Given the description of an element on the screen output the (x, y) to click on. 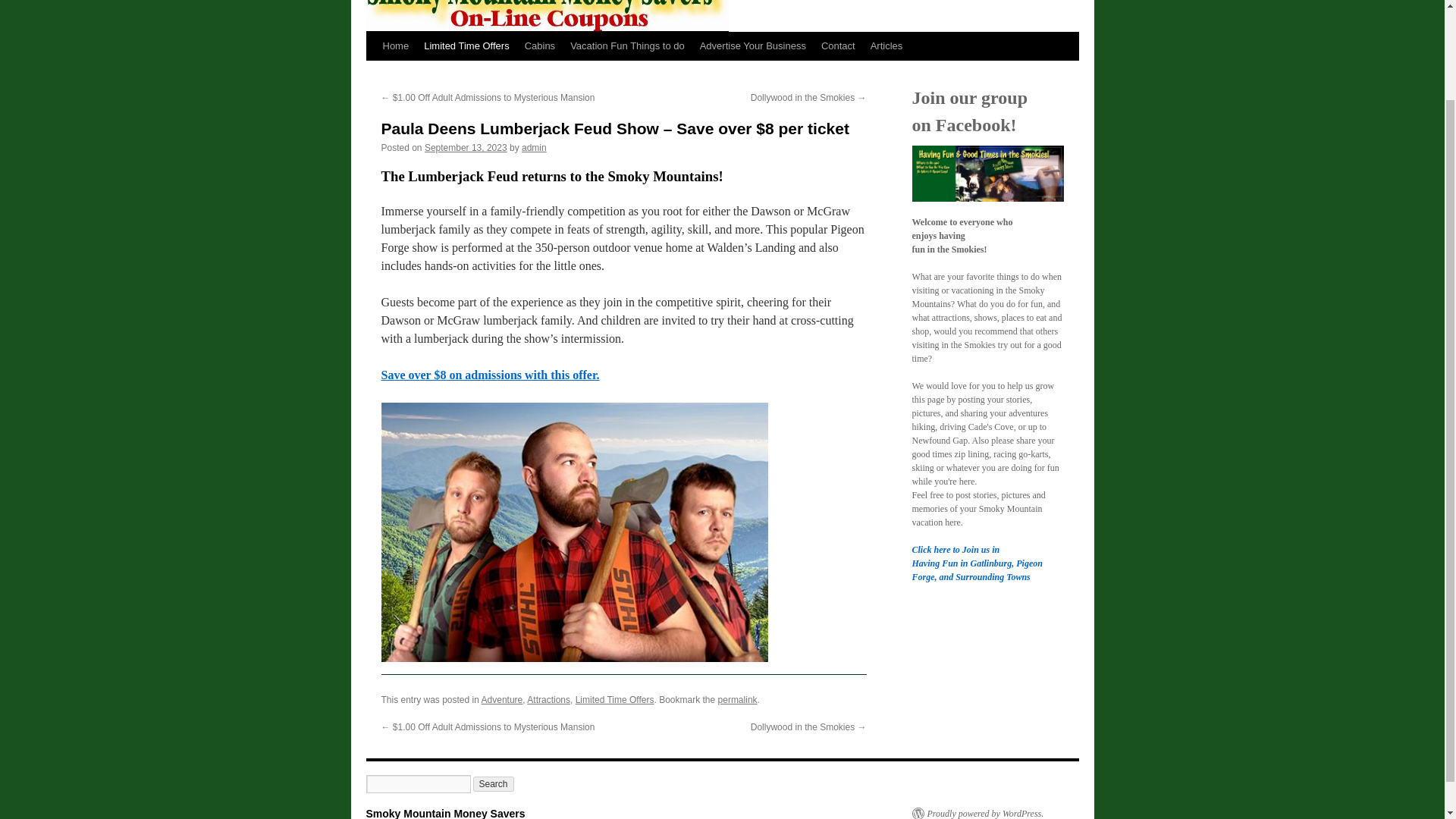
Contact (838, 45)
Search (493, 783)
September 13, 2023 (465, 147)
Home (395, 45)
View all posts by admin (534, 147)
Adventure (501, 699)
Attractions (548, 699)
Limited Time Offers (466, 45)
Articles (887, 45)
Advertise Your Business (753, 45)
